Given the description of an element on the screen output the (x, y) to click on. 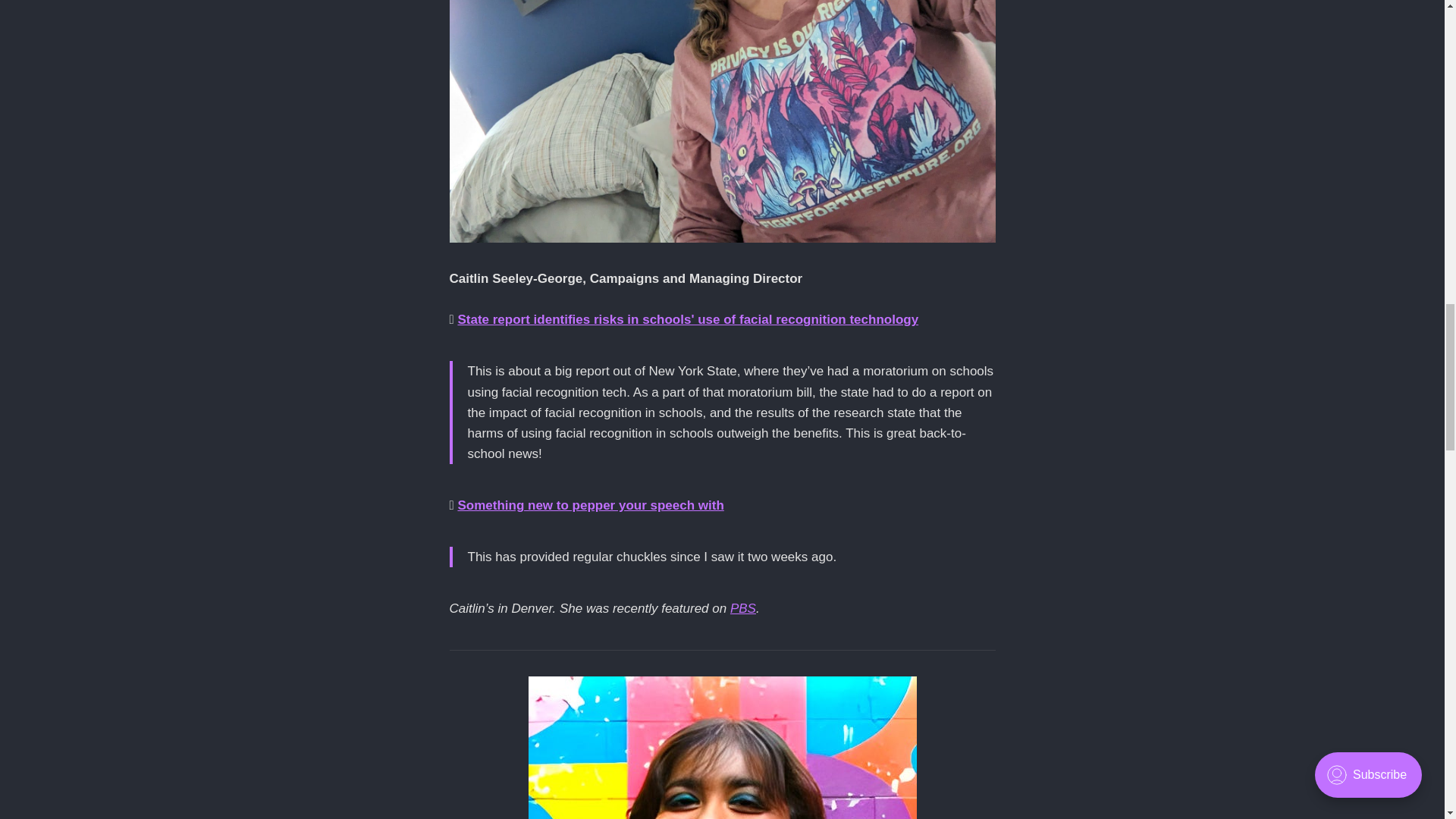
Something new to pepper your speech with (590, 504)
PBS (742, 608)
